Given the description of an element on the screen output the (x, y) to click on. 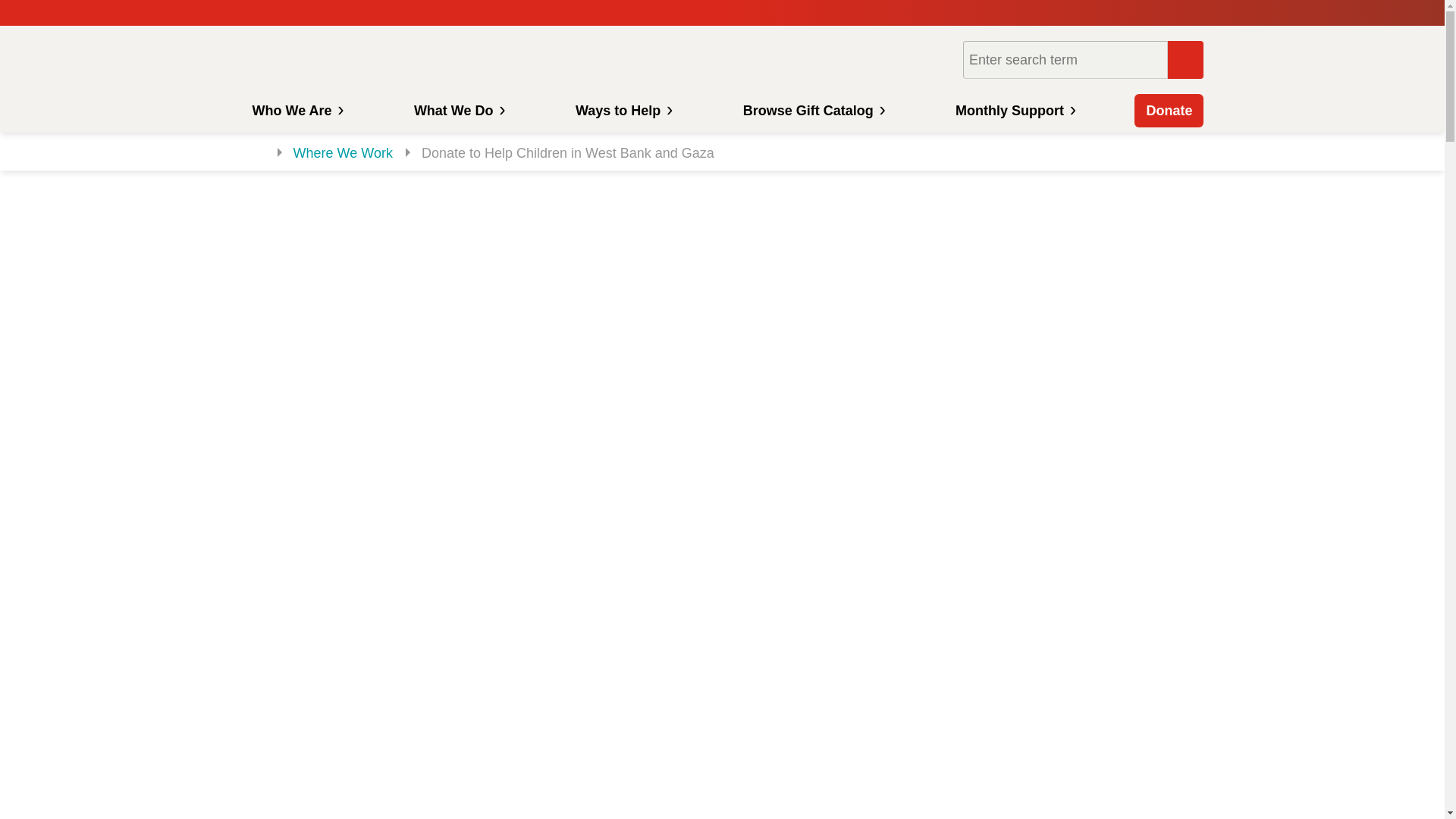
Monthly Support (1013, 110)
What We Do (458, 110)
Browse Gift Catalog (812, 110)
Ways to Help (621, 110)
Enter the terms you wish to search for. (1064, 59)
Who We Are (295, 110)
Search (1185, 59)
Search (1185, 59)
